Given the description of an element on the screen output the (x, y) to click on. 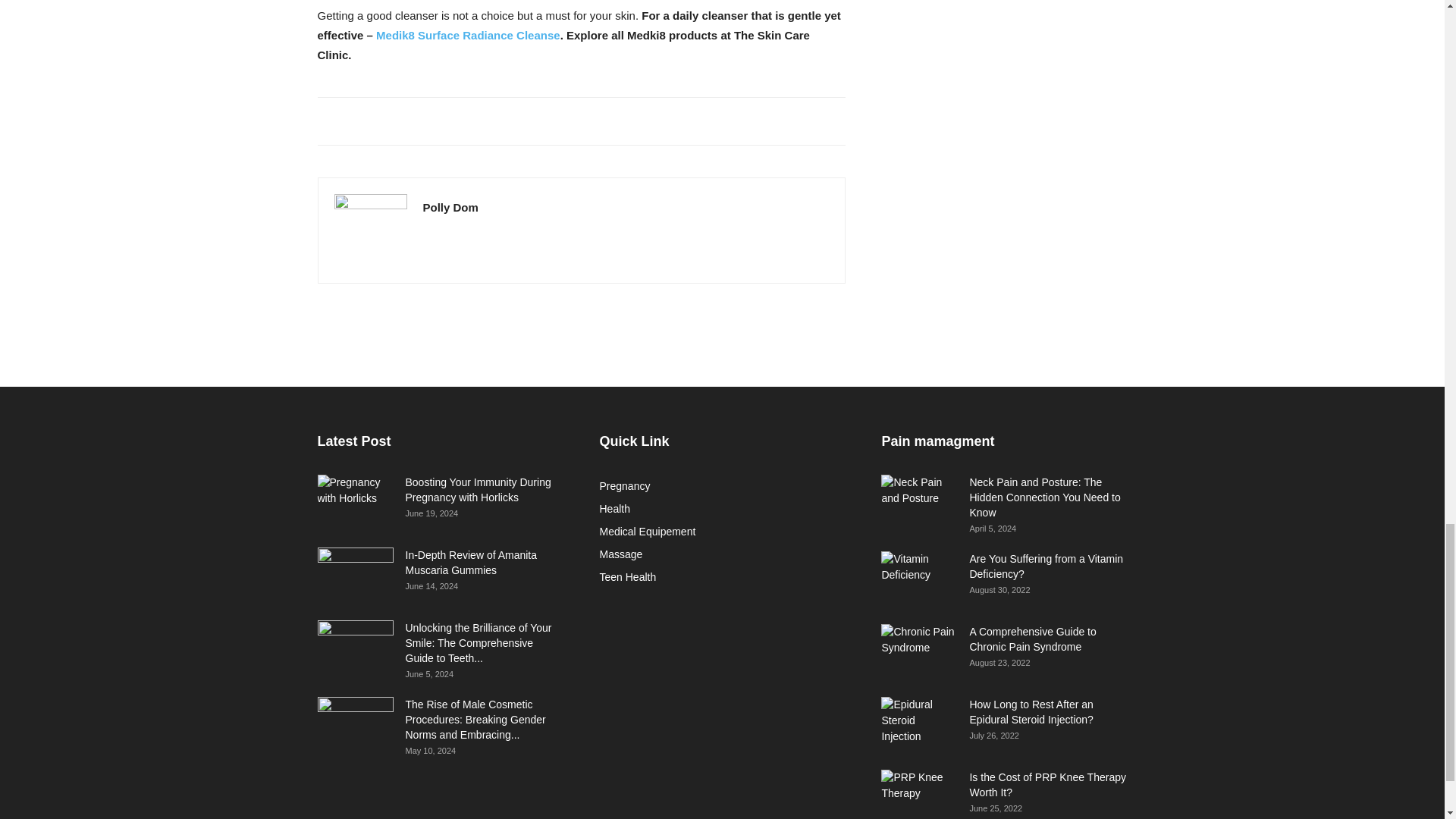
Polly Dom (451, 206)
Medik8 Surface Radiance Cleanse (467, 34)
